Given the description of an element on the screen output the (x, y) to click on. 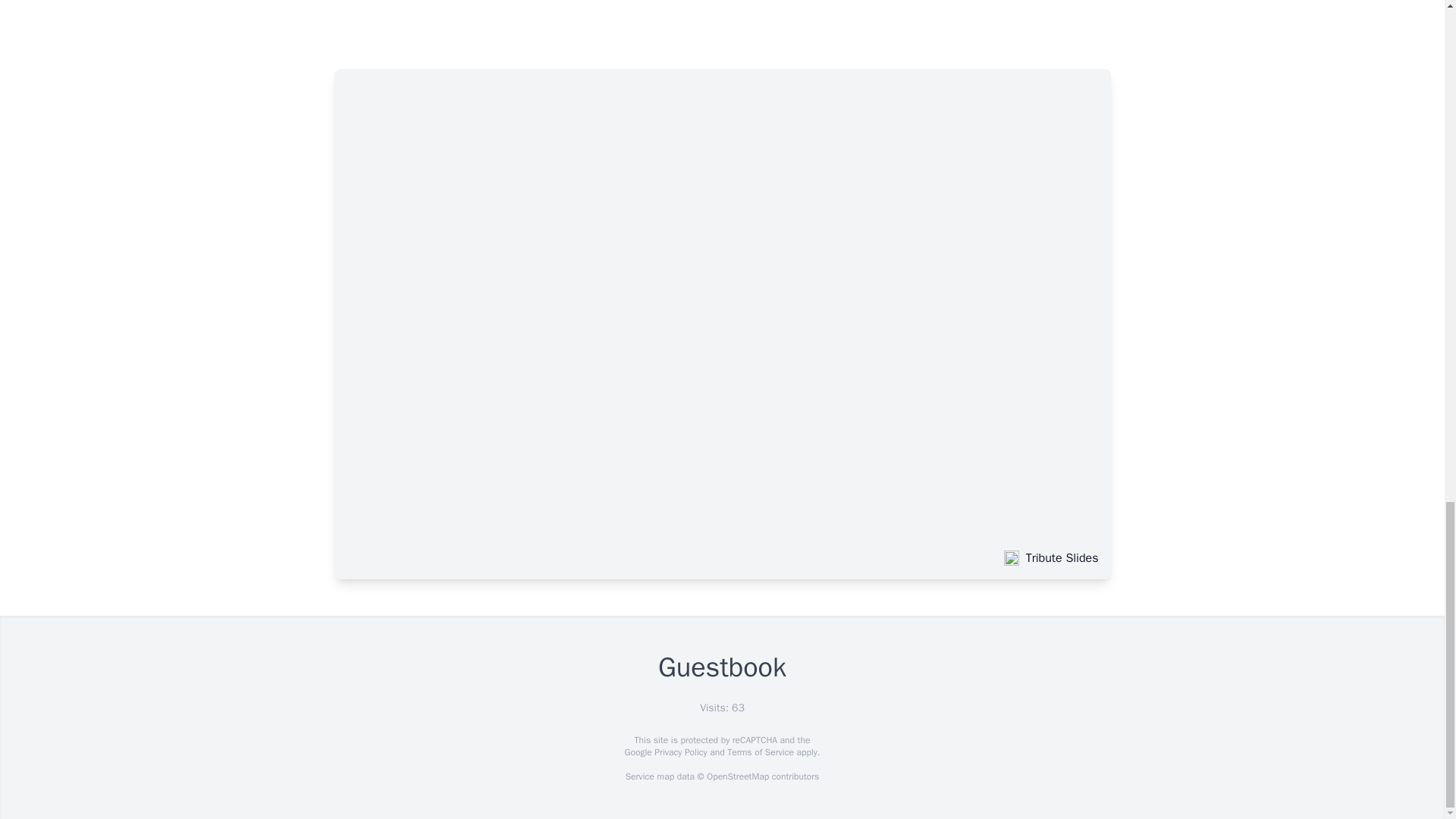
Terms of Service (759, 752)
OpenStreetMap (737, 776)
Privacy Policy (679, 752)
